Given the description of an element on the screen output the (x, y) to click on. 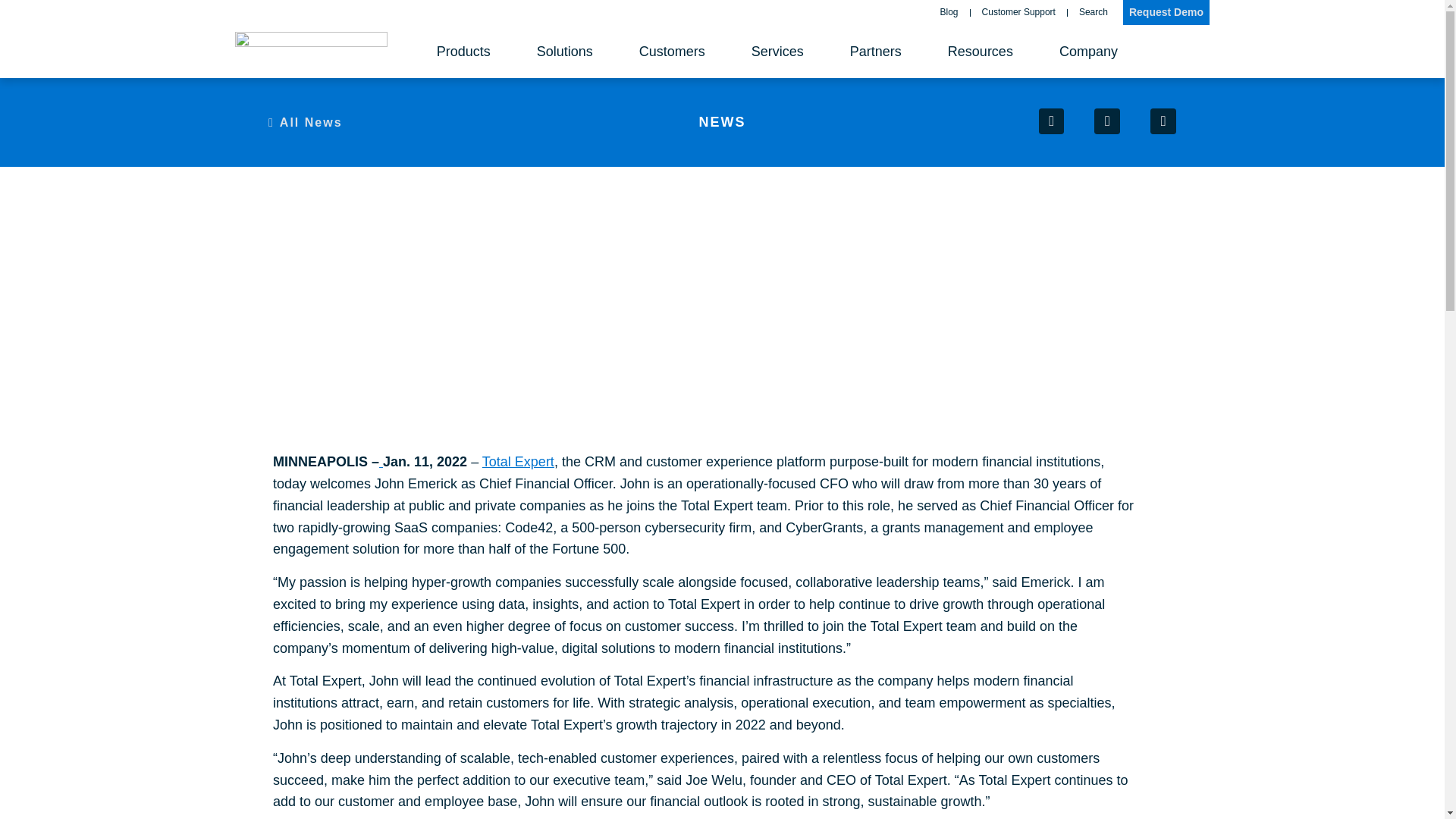
Blog (949, 12)
Search (1093, 12)
Customer Support (1018, 12)
Request Demo (1165, 12)
